Given the description of an element on the screen output the (x, y) to click on. 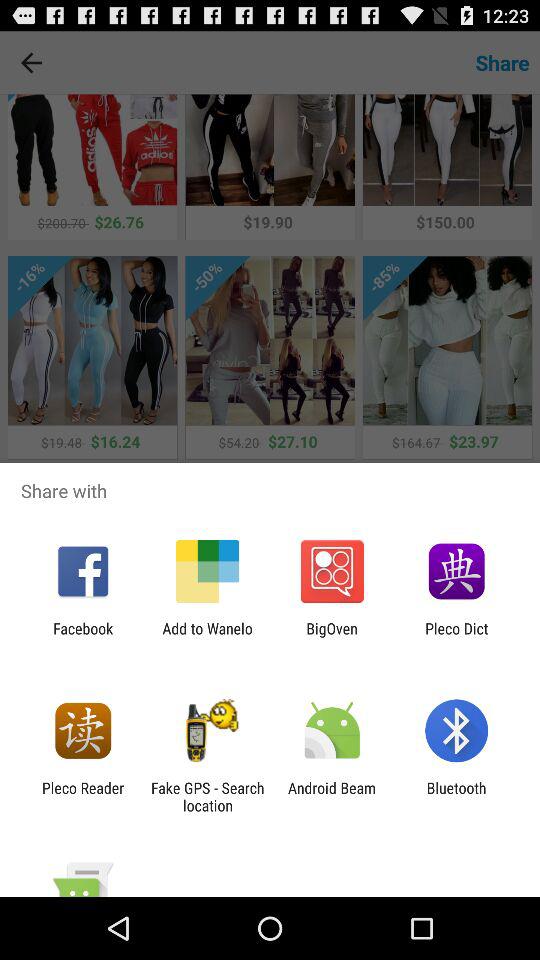
press app to the left of the bluetooth (332, 796)
